Given the description of an element on the screen output the (x, y) to click on. 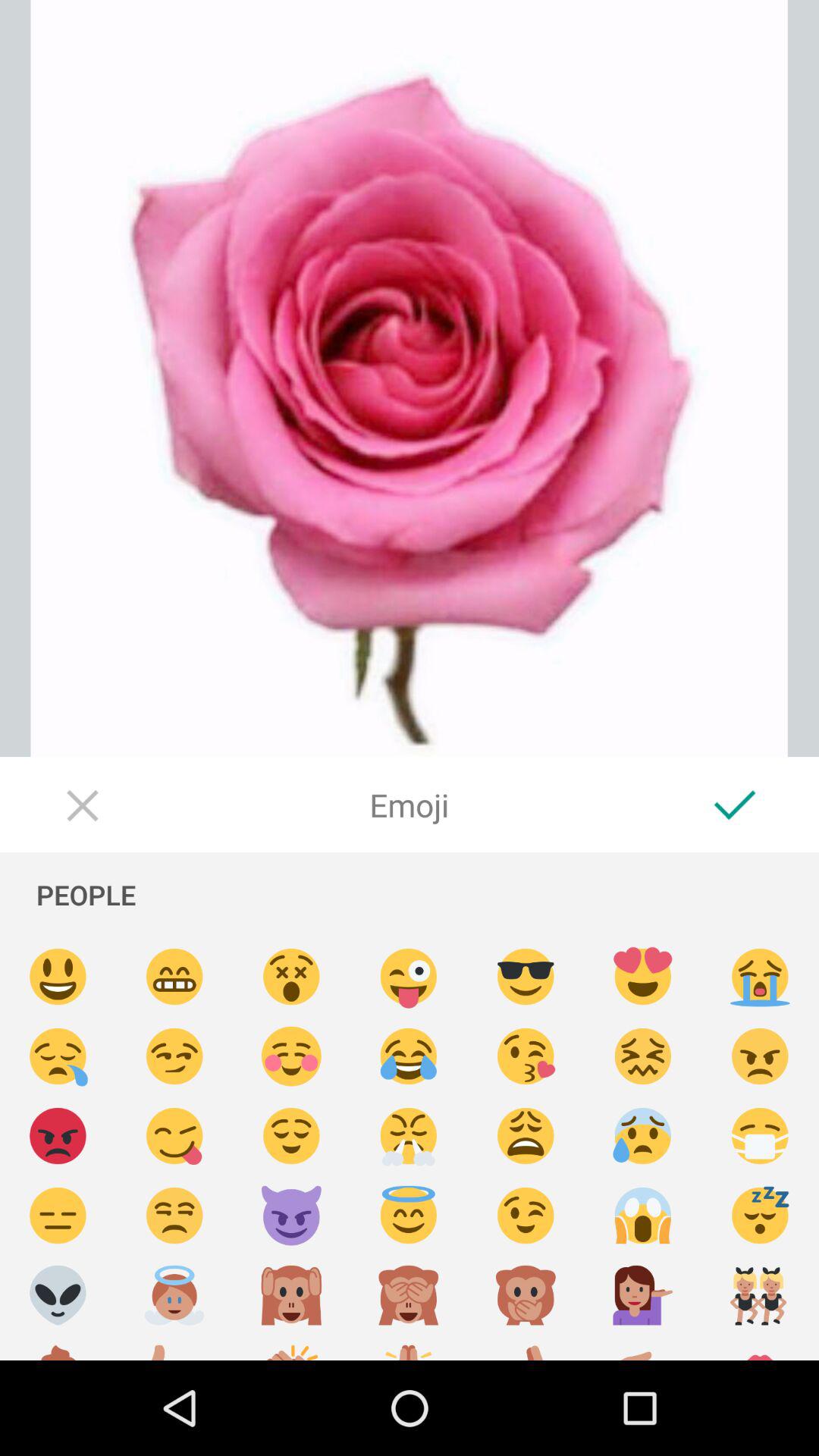
insert emoji (642, 1215)
